Given the description of an element on the screen output the (x, y) to click on. 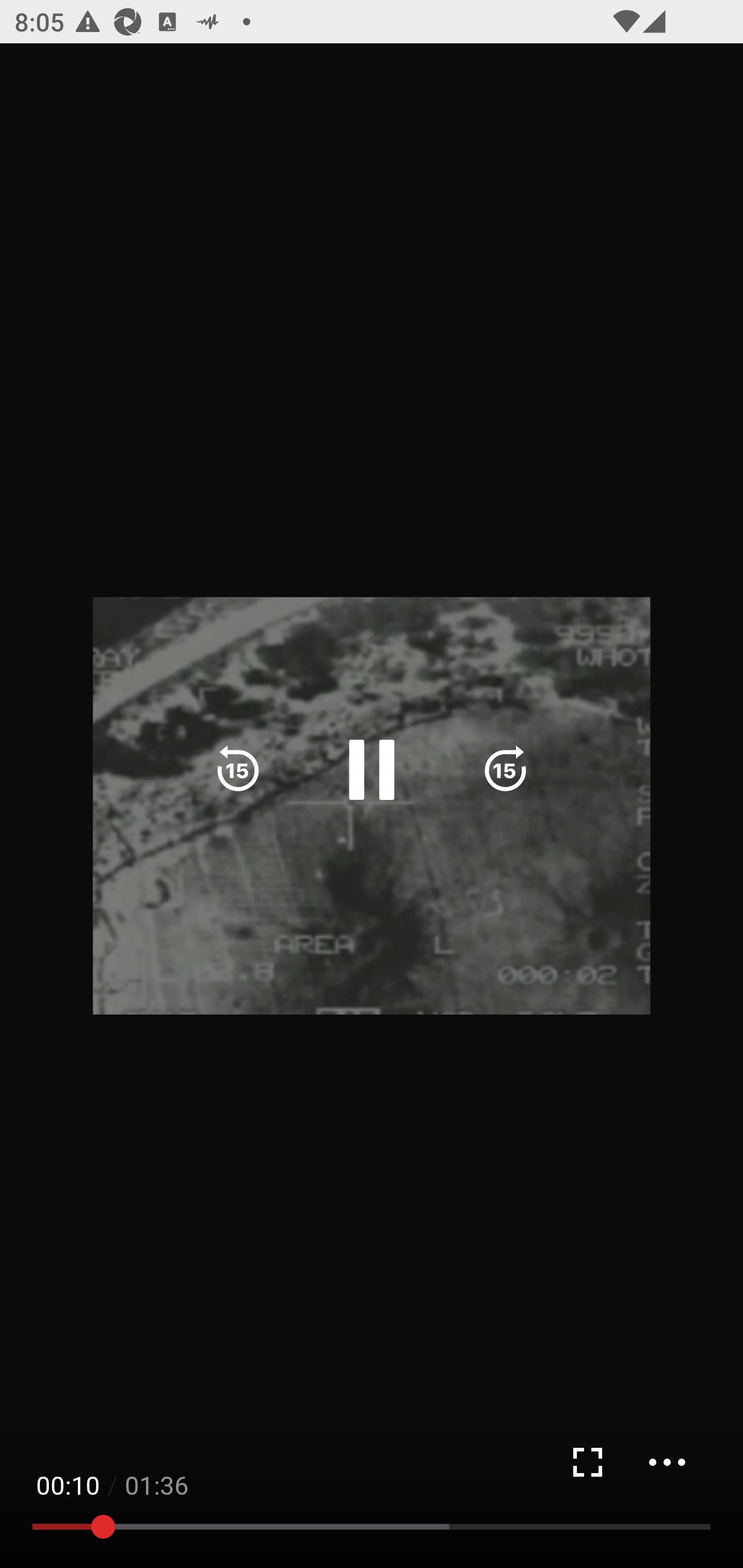
Rewind 15 seconds (238, 769)
Pause (371, 769)
fast forward 15 seconds (504, 769)
Fullscreen (587, 1462)
menu (666, 1462)
